Given the description of an element on the screen output the (x, y) to click on. 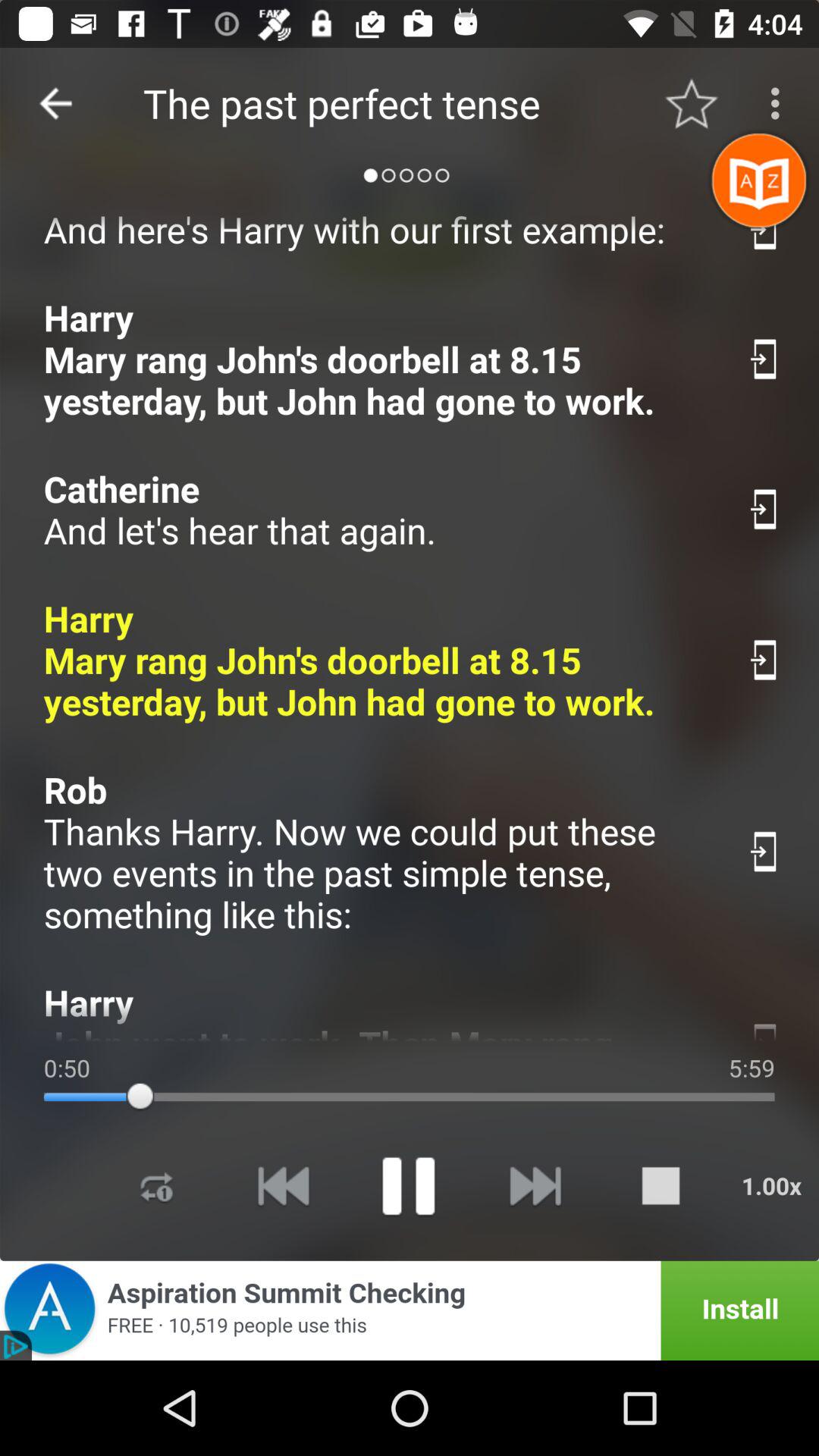
launch icon below harry mary rang item (379, 509)
